Given the description of an element on the screen output the (x, y) to click on. 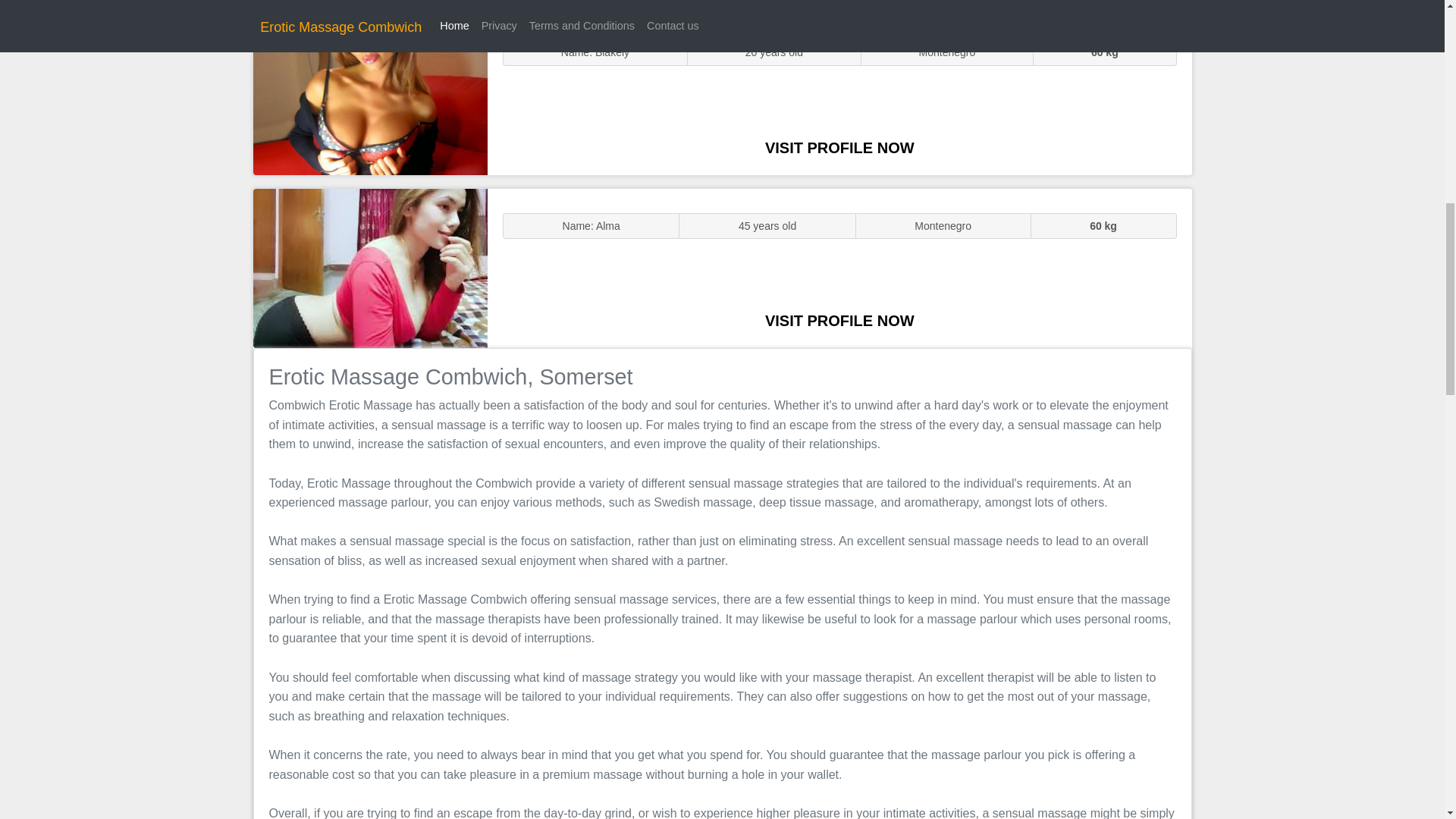
VISIT PROFILE NOW (839, 320)
Massage (370, 267)
VISIT PROFILE NOW (839, 147)
Sluts (370, 94)
